Given the description of an element on the screen output the (x, y) to click on. 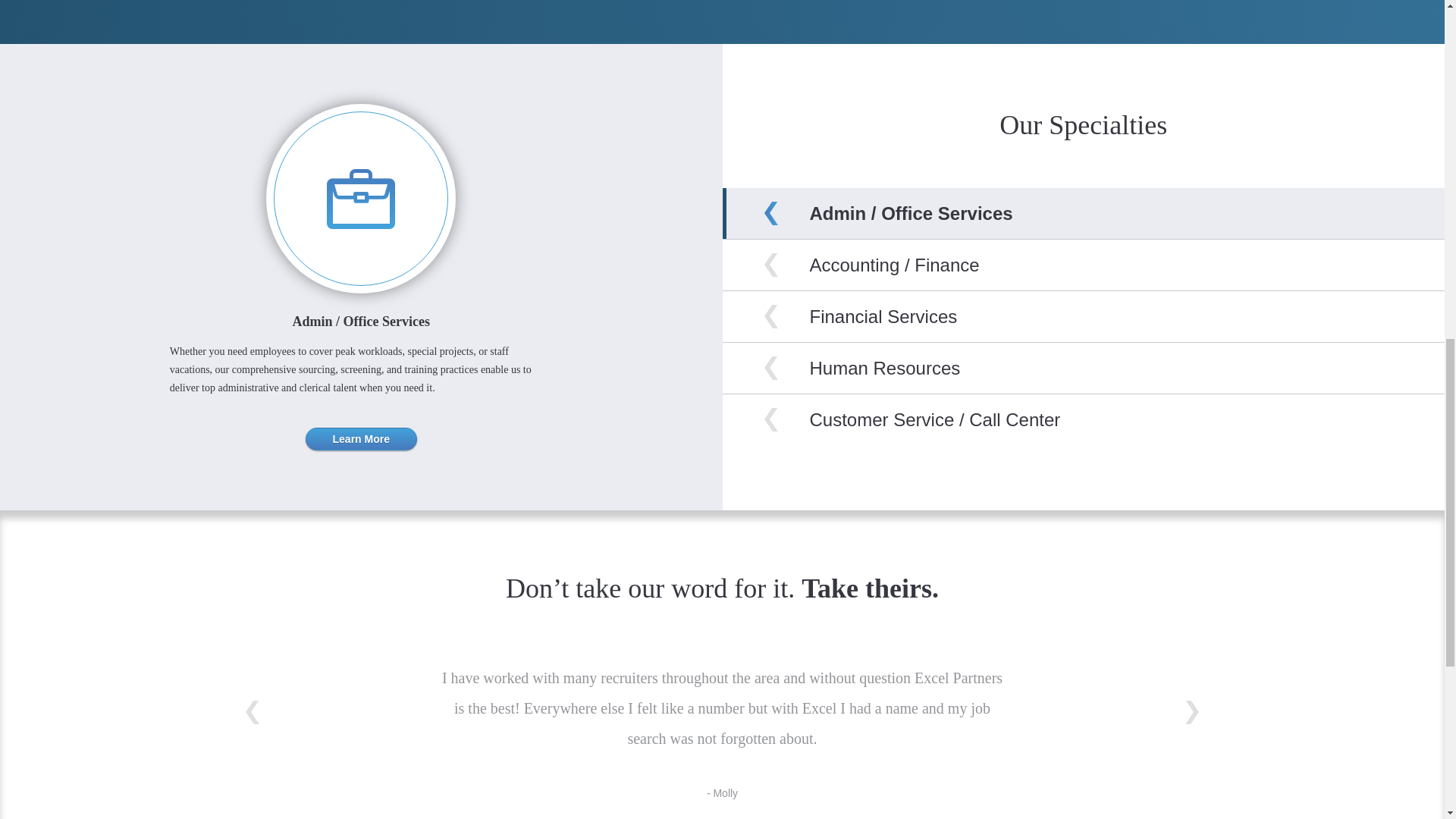
Financial Services (883, 316)
Human Resources (884, 367)
Learn More (360, 438)
